Given the description of an element on the screen output the (x, y) to click on. 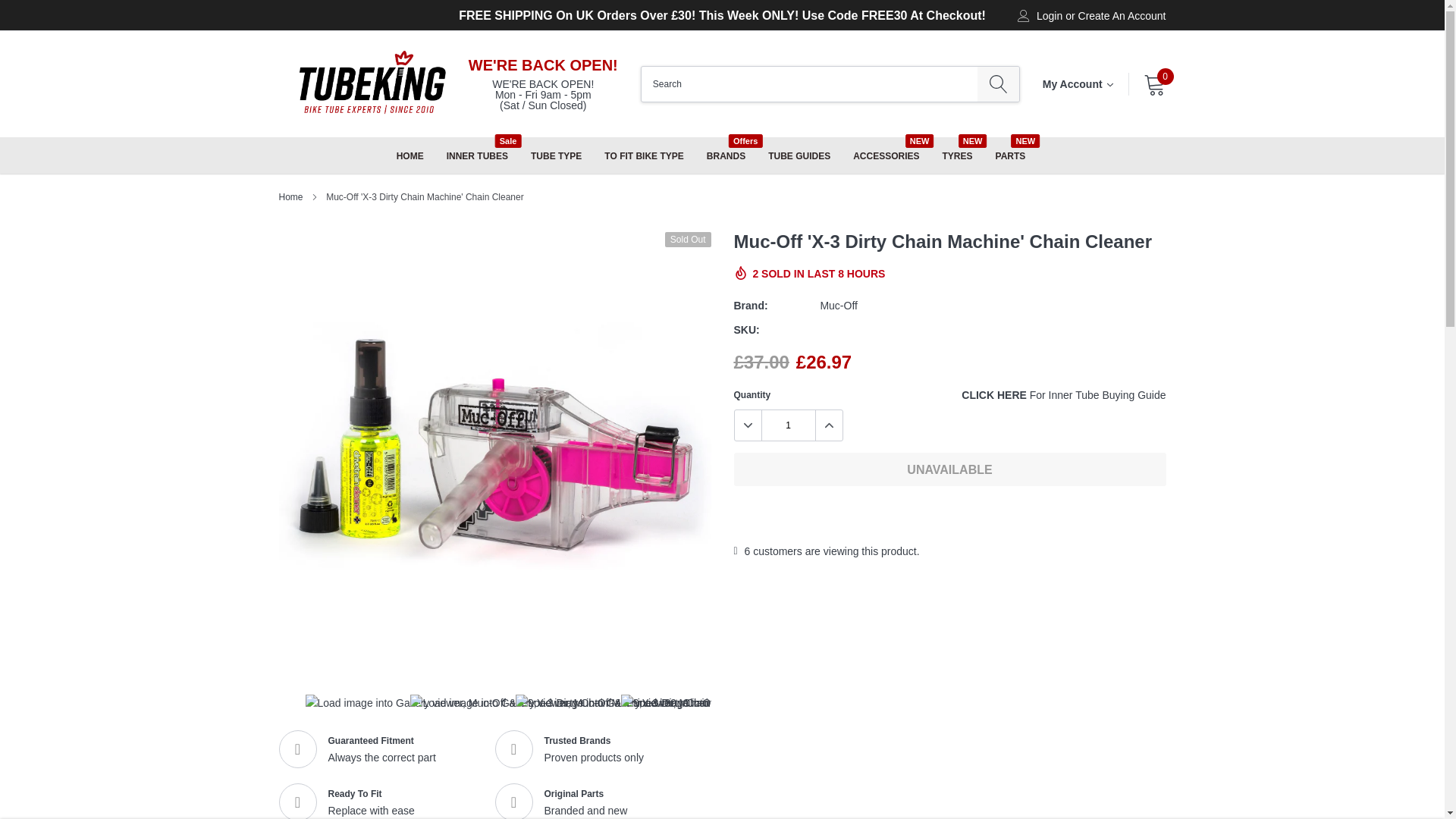
0 (1154, 83)
Create An Account (1122, 15)
HOME (409, 155)
1 (787, 425)
Login (1049, 15)
search (997, 83)
Muc-Off (838, 305)
My Account (1077, 83)
WE'RE BACK OPEN! (542, 64)
